Given the description of an element on the screen output the (x, y) to click on. 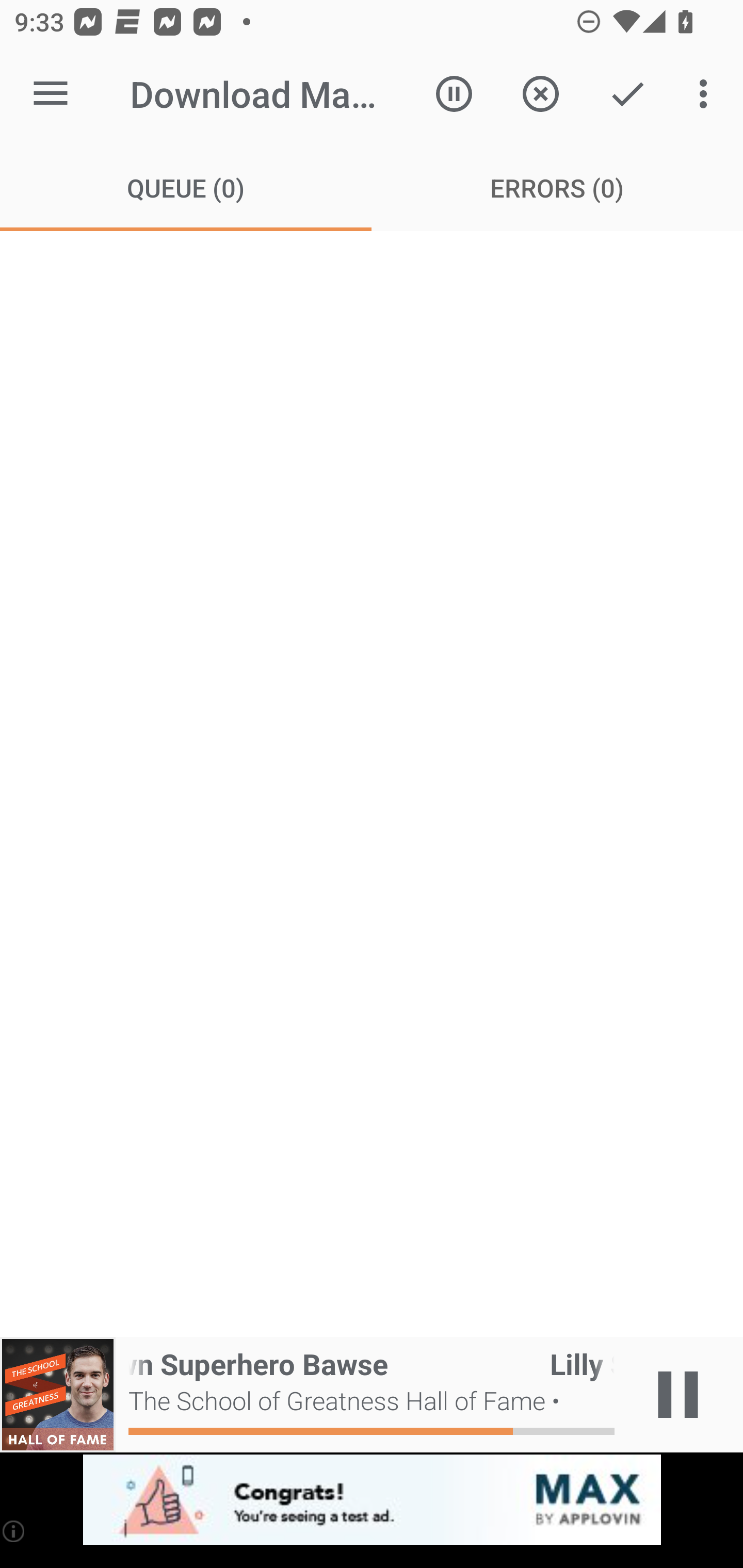
Open navigation sidebar (50, 93)
Pause downloads... (453, 93)
Cancel Downloads (540, 93)
Action Mode (626, 93)
More options (706, 93)
Errors (0) ERRORS (0) (557, 187)
Play / Pause (677, 1394)
app-monetization (371, 1500)
(i) (14, 1531)
